Given the description of an element on the screen output the (x, y) to click on. 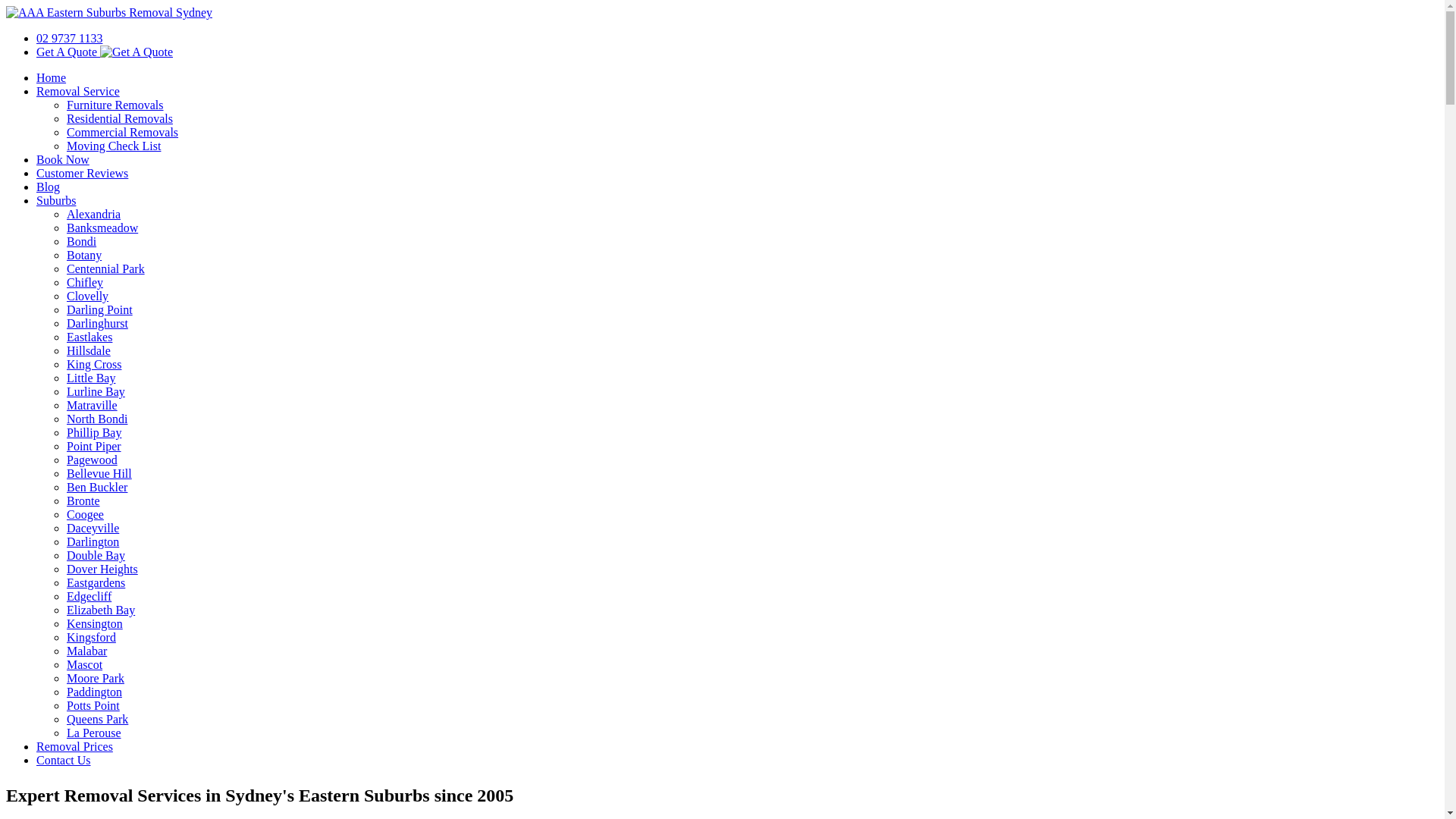
Bronte Element type: text (83, 500)
Double Bay Element type: text (95, 555)
Centennial Park Element type: text (105, 268)
Commercial Removals Element type: text (122, 131)
Little Bay Element type: text (90, 377)
Elizabeth Bay Element type: text (100, 609)
Paddington Element type: text (94, 691)
Moore Park Element type: text (95, 677)
Chifley Element type: text (84, 282)
Bondi Element type: text (81, 241)
North Bondi Element type: text (96, 418)
Furniture Removals Element type: text (114, 104)
La Perouse Element type: text (93, 732)
Eastlakes Element type: text (89, 336)
Removal Service Element type: text (77, 90)
Potts Point Element type: text (92, 705)
Alexandria Element type: text (93, 213)
Suburbs Element type: text (55, 200)
Malabar Element type: text (86, 650)
Darlington Element type: text (92, 541)
Residential Removals Element type: text (119, 118)
Darling Point Element type: text (99, 309)
Removal Prices Element type: text (74, 746)
Kingsford Element type: text (91, 636)
Matraville Element type: text (91, 404)
Customer Reviews Element type: text (82, 172)
Clovelly Element type: text (87, 295)
Moving Check List Element type: text (113, 145)
02 9737 1133 Element type: text (69, 37)
Point Piper Element type: text (93, 445)
Botany Element type: text (83, 254)
Hillsdale Element type: text (88, 350)
Kensington Element type: text (94, 623)
Blog Element type: text (47, 186)
Dover Heights Element type: text (102, 568)
Contact Us Element type: text (63, 759)
Get A Quote Element type: text (104, 51)
Bellevue Hill Element type: text (98, 473)
Mascot Element type: text (84, 664)
King Cross Element type: text (93, 363)
Book Now Element type: text (62, 159)
Coogee Element type: text (84, 514)
Get A Quote Element type: hover (136, 52)
Phillip Bay Element type: text (93, 432)
Ben Buckler Element type: text (96, 486)
AAA Eastern Suburbs Removal Sydney Element type: hover (109, 12)
AAA Eastern Suburbs Removal Sydney Element type: hover (722, 12)
Darlinghurst Element type: text (97, 322)
Eastgardens Element type: text (95, 582)
Banksmeadow Element type: text (102, 227)
Daceyville Element type: text (92, 527)
Queens Park Element type: text (97, 718)
Edgecliff Element type: text (88, 595)
Lurline Bay Element type: text (95, 391)
Pagewood Element type: text (91, 459)
Home Element type: text (50, 77)
